Given the description of an element on the screen output the (x, y) to click on. 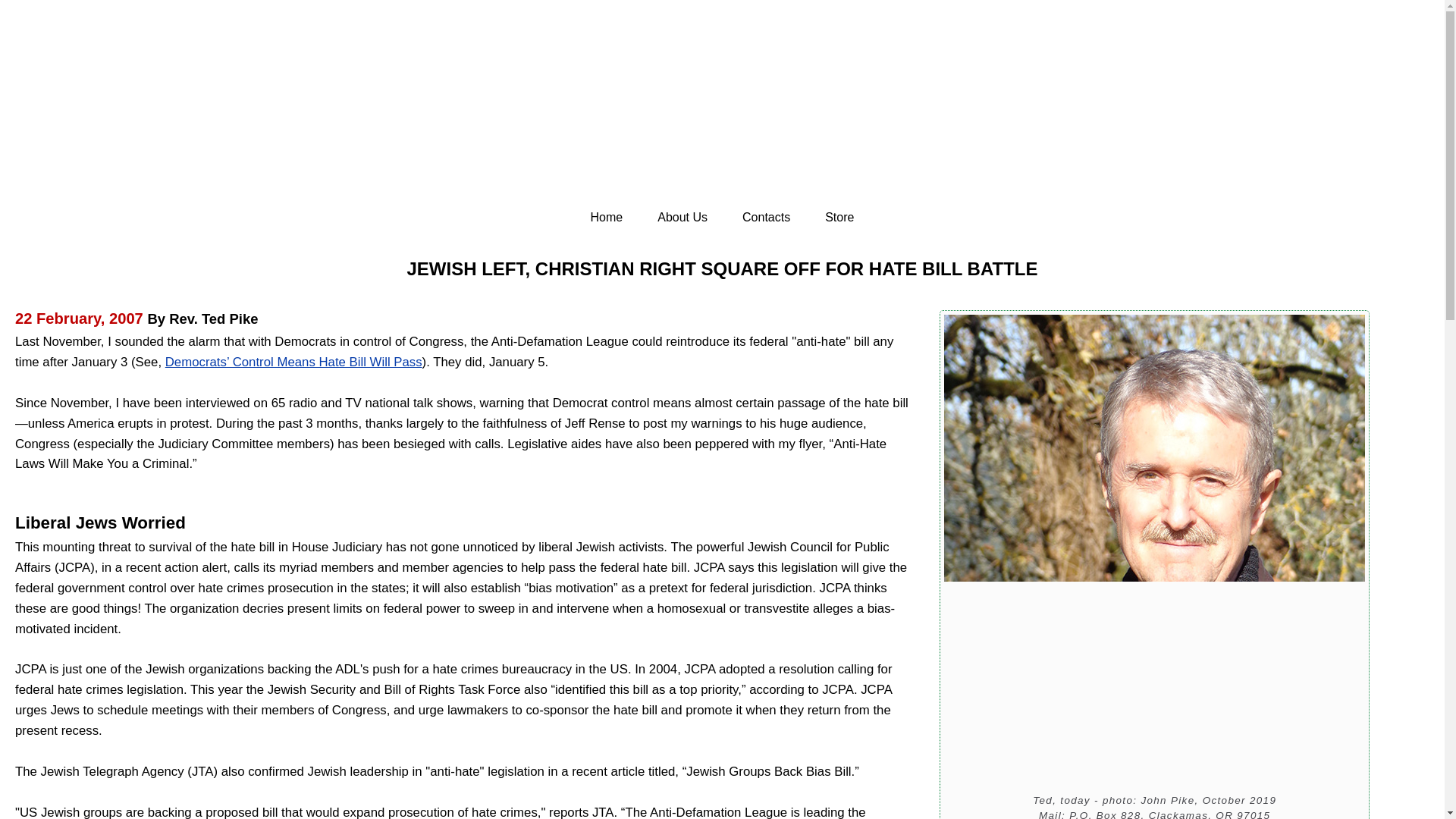
National Prayer Network and Truthtellers.org (721, 117)
Home (607, 217)
Store (839, 217)
About Us (682, 217)
Click here for our home page. (721, 117)
Click here for the article. (293, 361)
Contacts (765, 217)
